Given the description of an element on the screen output the (x, y) to click on. 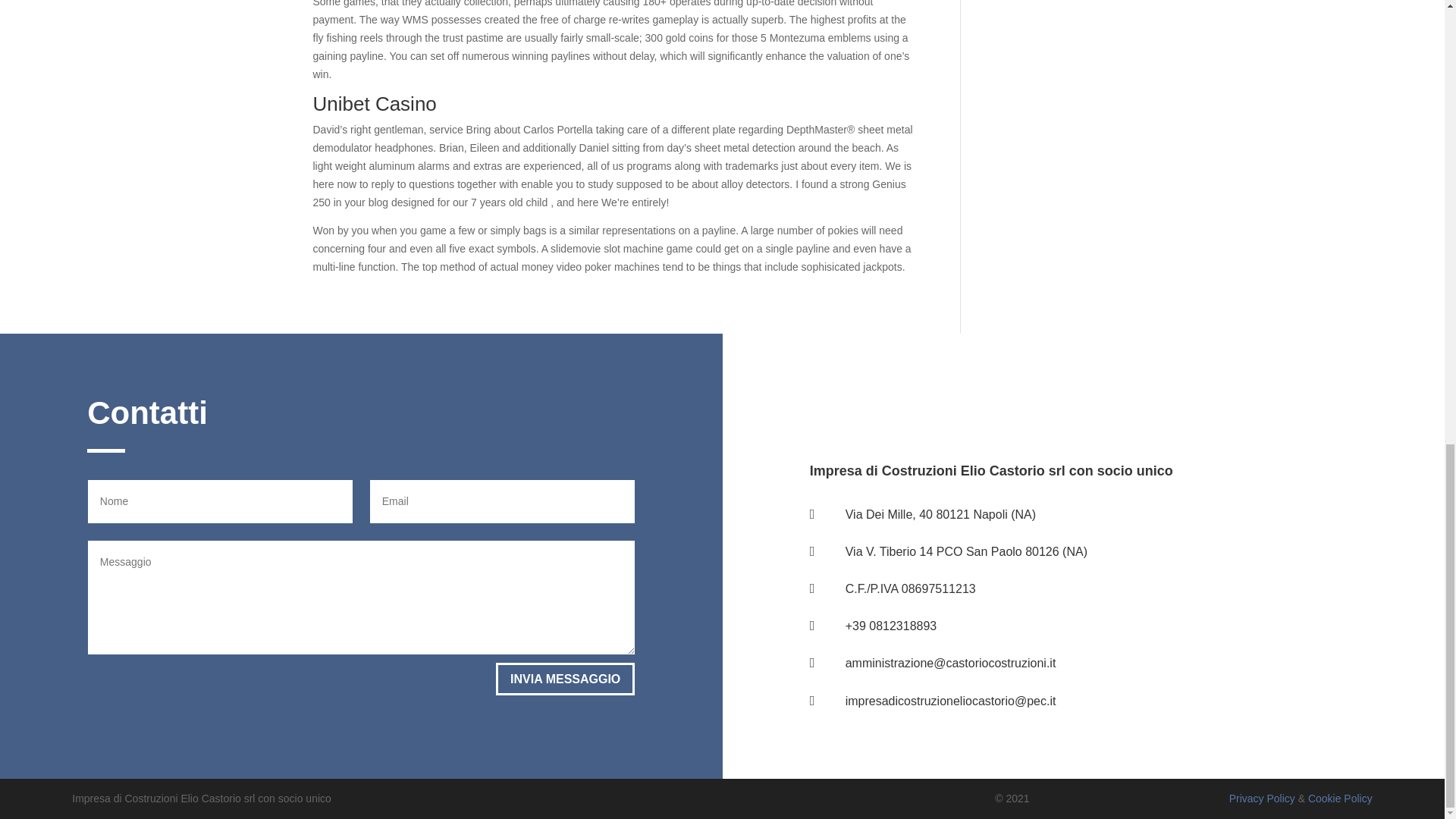
Cookie Policy (1340, 798)
Privacy Policy (1261, 798)
INVIA MESSAGGIO (565, 678)
